Given the description of an element on the screen output the (x, y) to click on. 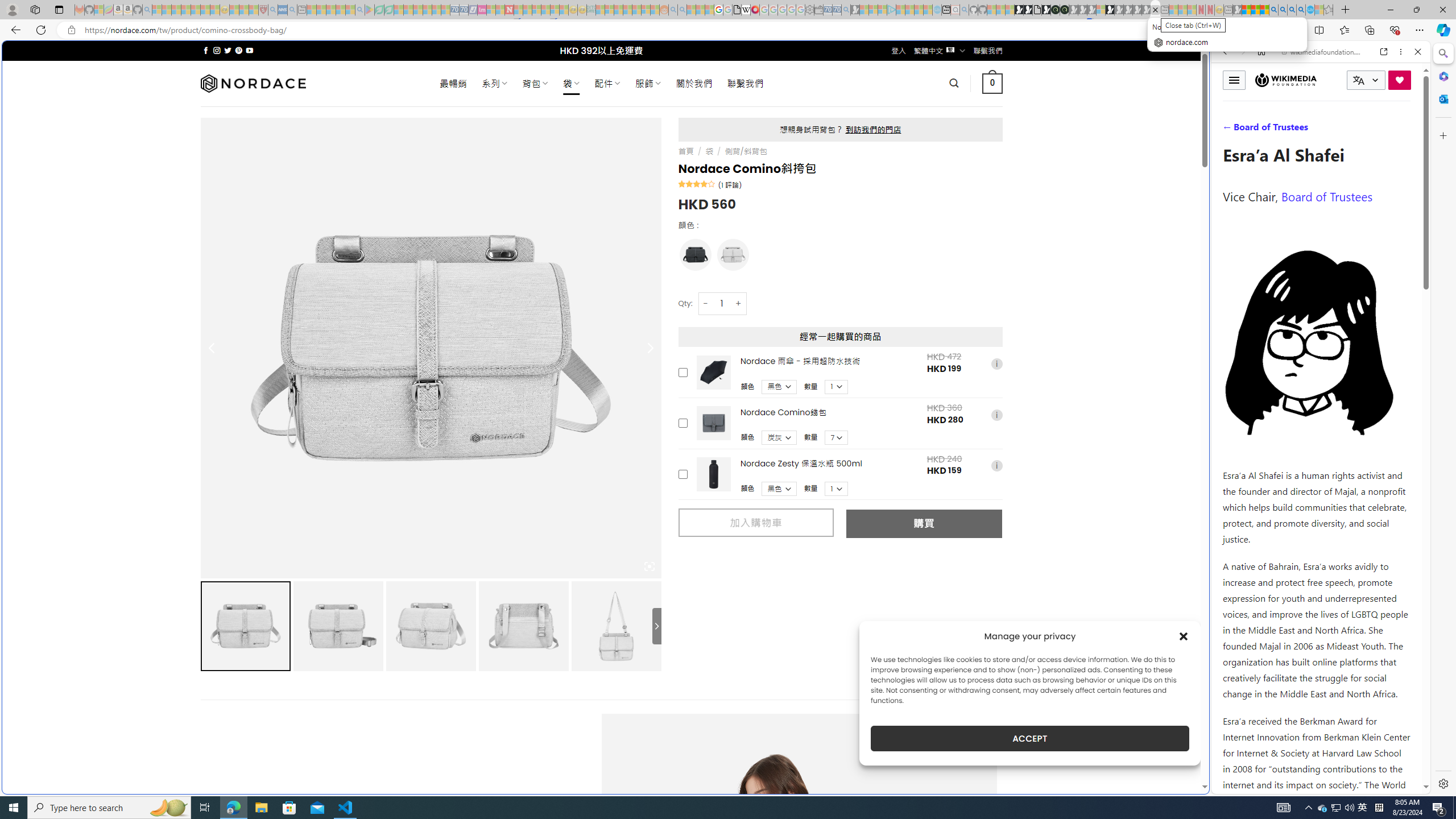
New Tab (1346, 9)
Search Filter, WEB (1230, 129)
Web scope (1230, 102)
Play Zoo Boom in your browser | Games from Microsoft Start (1027, 9)
Settings - Sleeping (809, 9)
View site information (70, 29)
Microsoft Start - Sleeping (919, 9)
Close (1417, 51)
